Given the description of an element on the screen output the (x, y) to click on. 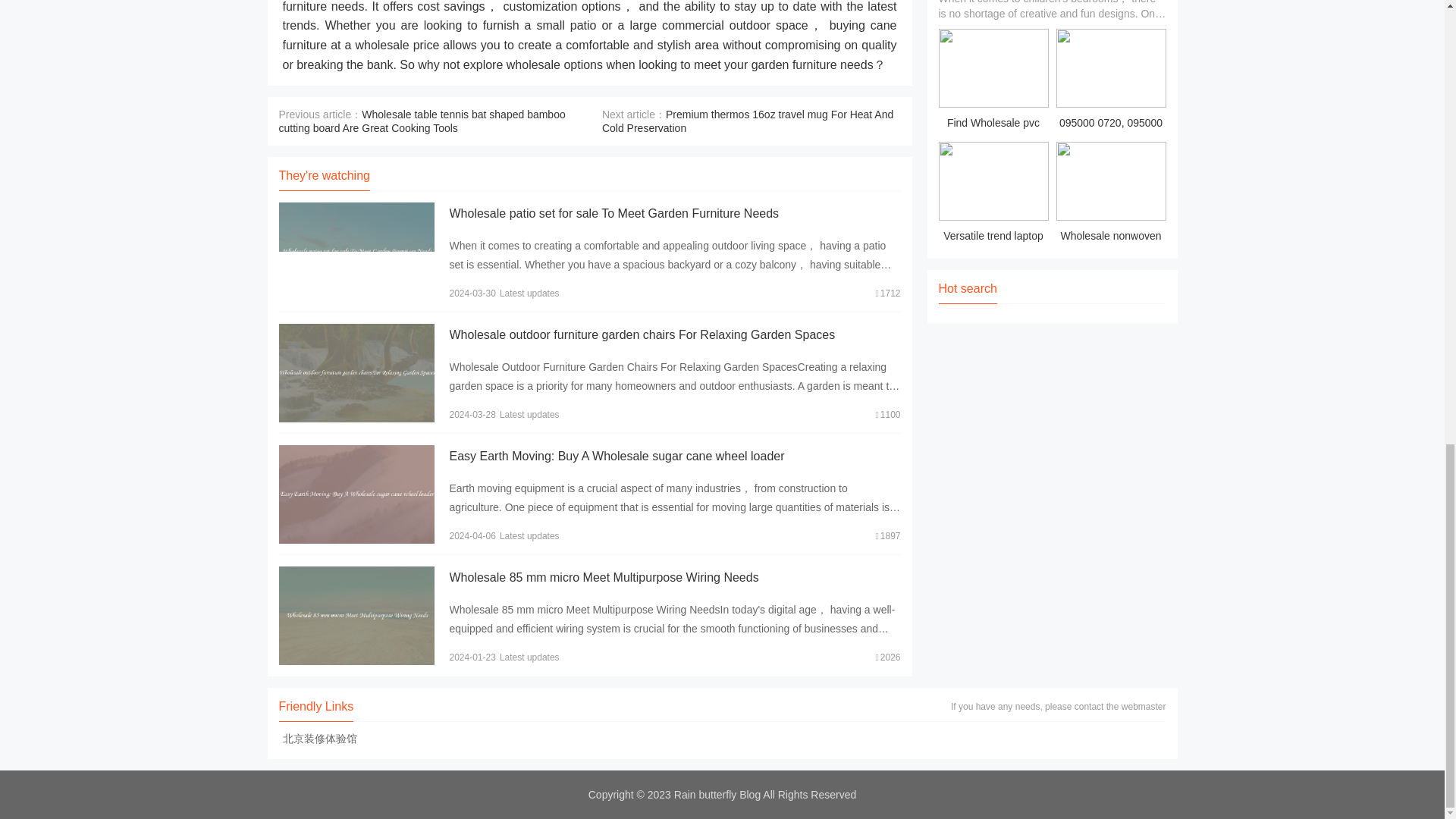
095000 0720, 095000 0720 Suppliers and Manufacturers (1110, 81)
Wholesale patio set for sale To Meet Garden Furniture Needs (613, 213)
Wholesale nonwoven screen printers For Your Business (1110, 194)
Versatile trend laptop briefcase In Fancy Designs (993, 194)
Wholesale 85 mm micro Meet Multipurpose Wiring Needs (603, 576)
Easy Earth Moving: Buy A Wholesale sugar cane wheel loader (616, 455)
